Given the description of an element on the screen output the (x, y) to click on. 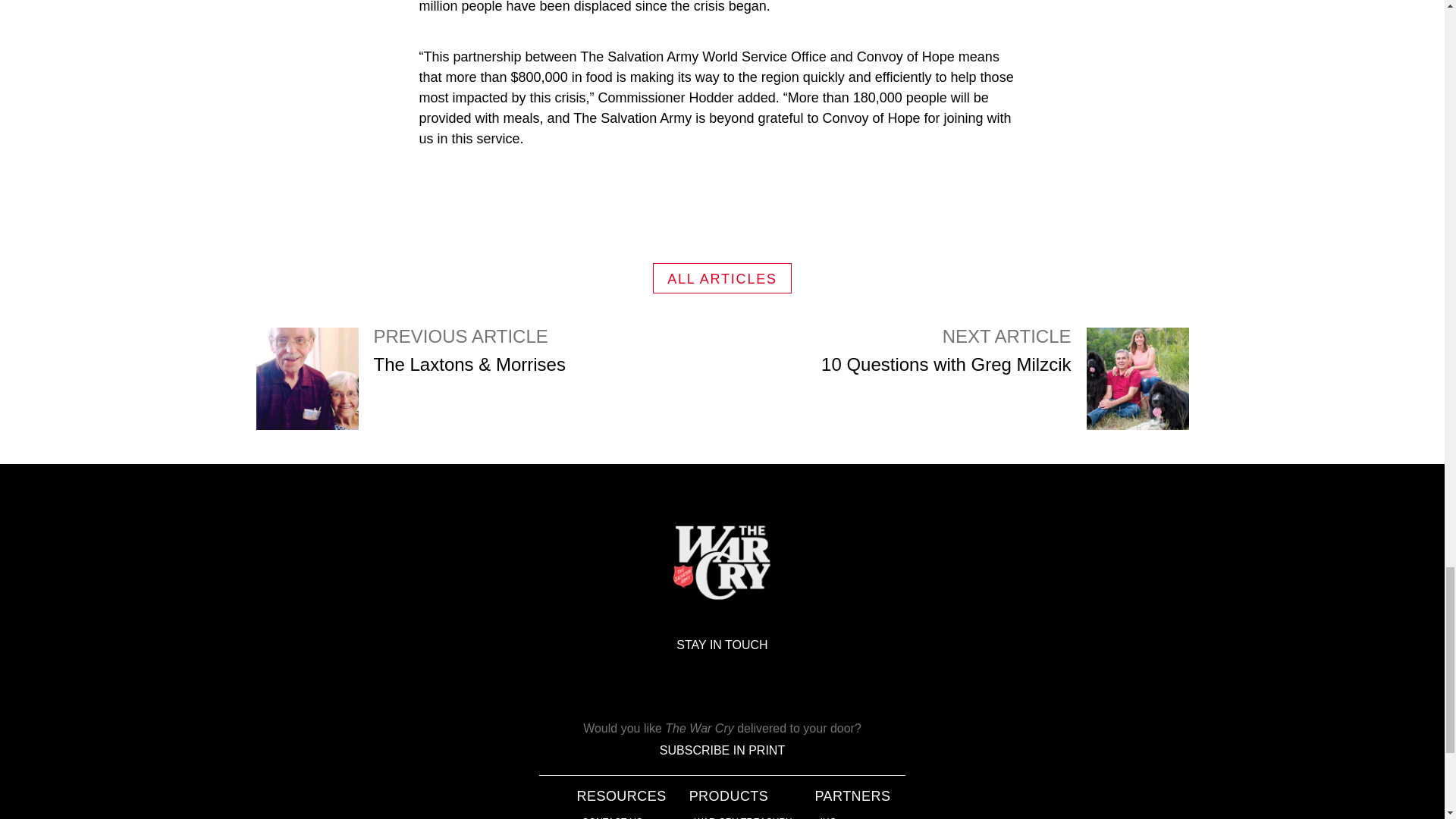
ALL ARTICLES (1004, 378)
CONTACT US (722, 277)
SUBSCRIBE IN PRINT (612, 817)
